Given the description of an element on the screen output the (x, y) to click on. 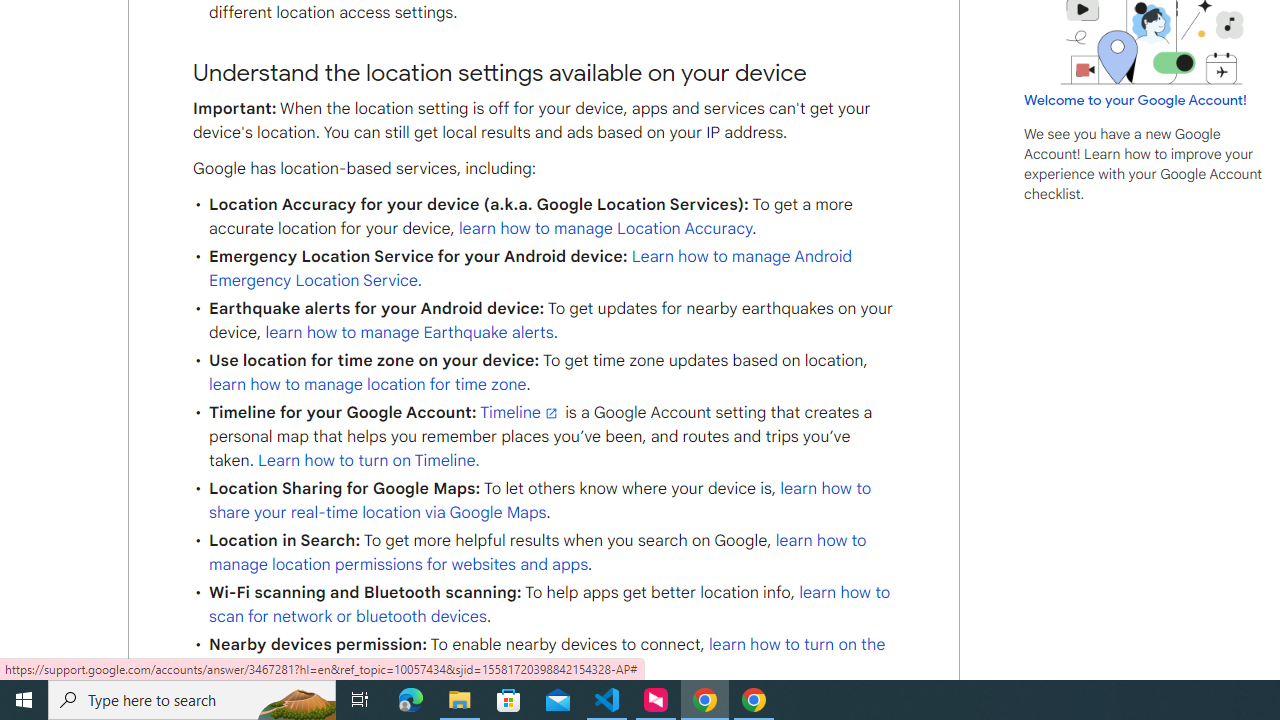
Timeline (520, 413)
learn how to manage Location Accuracy (605, 228)
learn how to scan for network or bluetooth devices (549, 605)
learn how to share your real-time location via Google Maps (539, 500)
Learn how to turn on Timeline. (369, 460)
learn how to turn on the Nearby devices permission (546, 656)
Welcome to your Google Account! (1135, 99)
learn how to manage Earthquake alerts (409, 332)
learn how to manage location for time zone (367, 385)
Learn how to manage Android Emergency Location Service (530, 268)
